Given the description of an element on the screen output the (x, y) to click on. 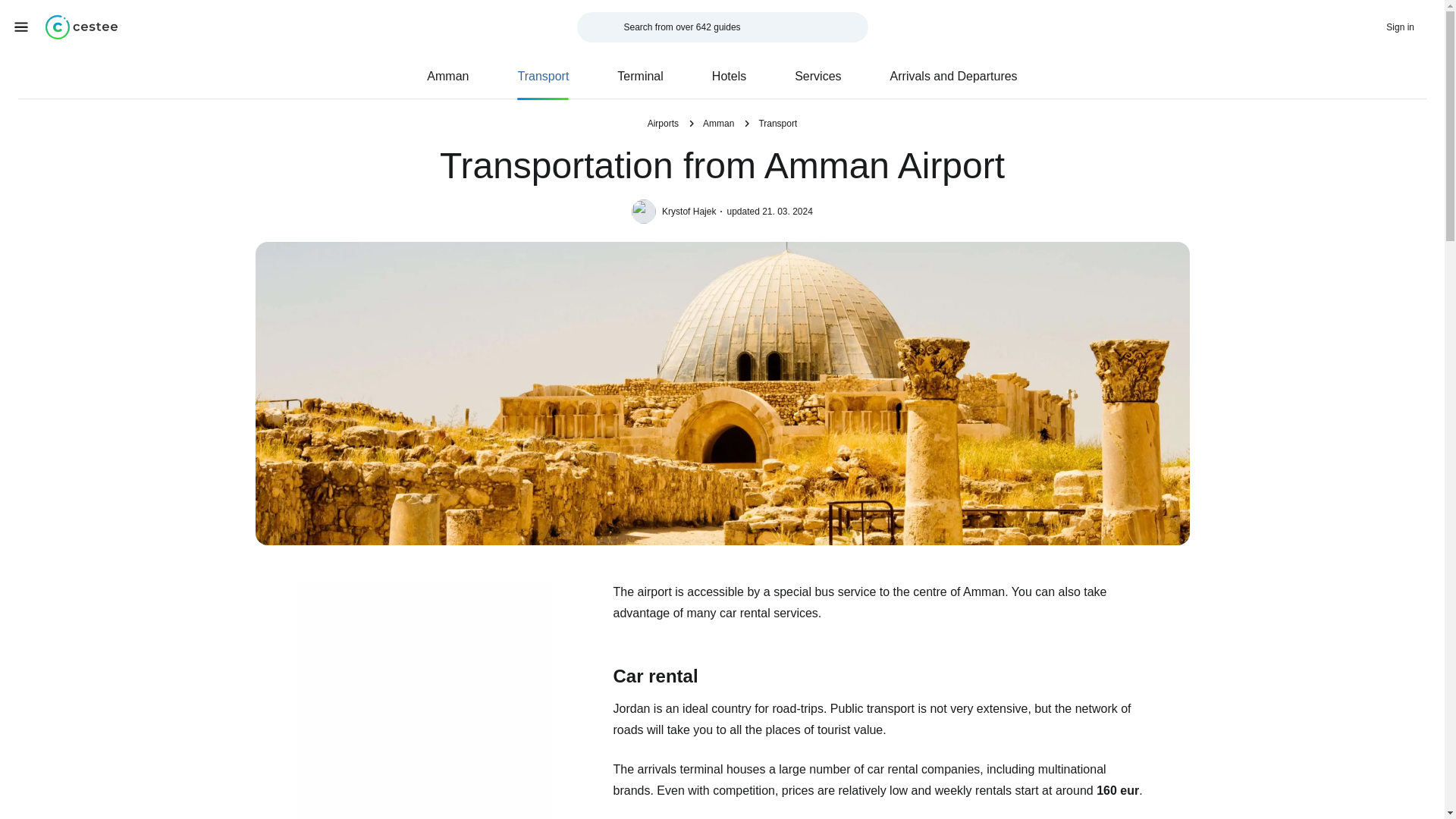
Services (817, 76)
Transport (542, 76)
Terminal (639, 76)
Transport (777, 123)
Krystof Hajek (692, 211)
Sign in (984, 458)
Arrivals and Departures (954, 76)
Hotels (728, 76)
Sign in (1410, 27)
Amman (448, 76)
